Given the description of an element on the screen output the (x, y) to click on. 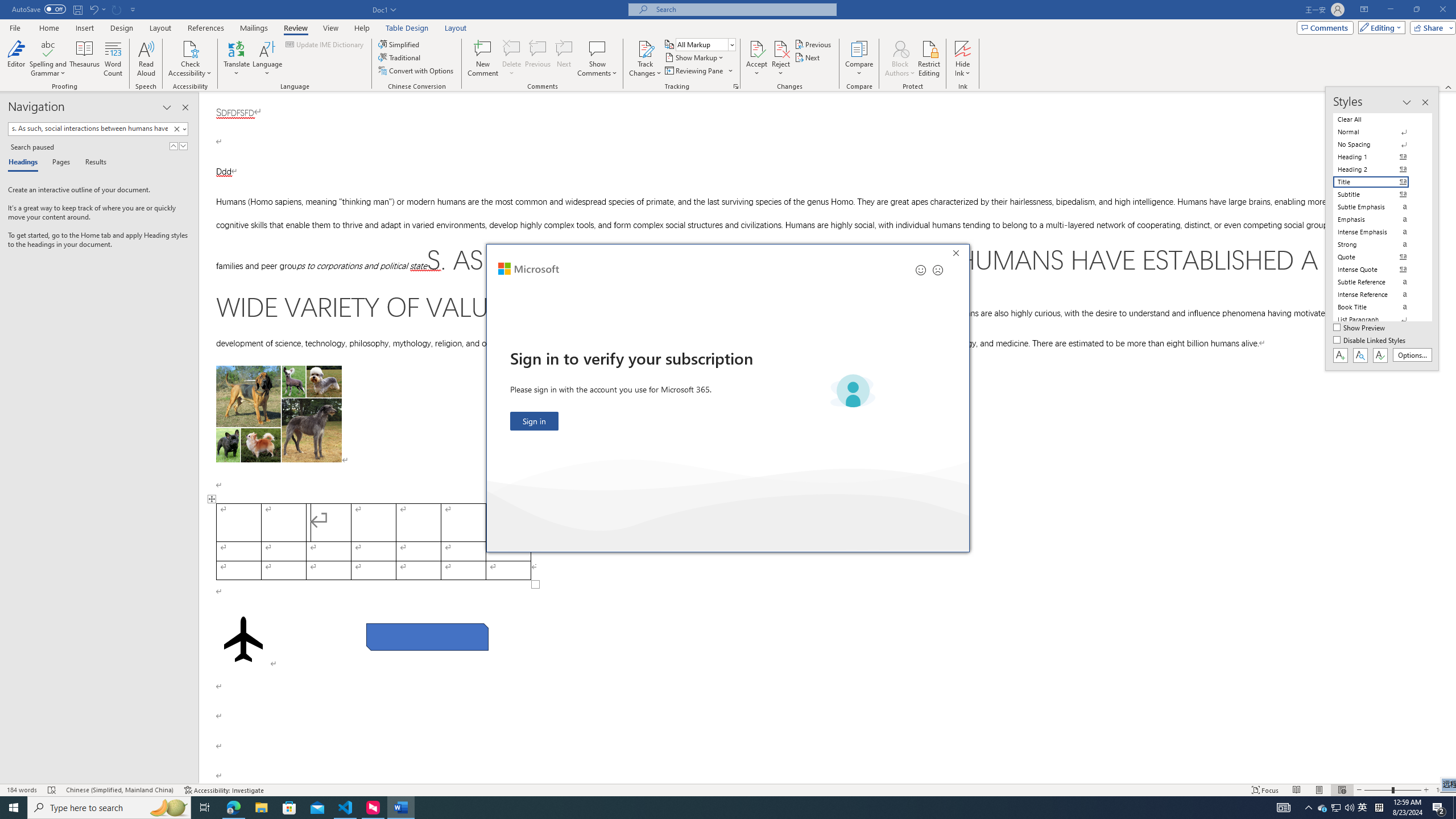
Spelling and Grammar (48, 58)
Strong (1377, 244)
Spelling and Grammar (48, 48)
